Given the description of an element on the screen output the (x, y) to click on. 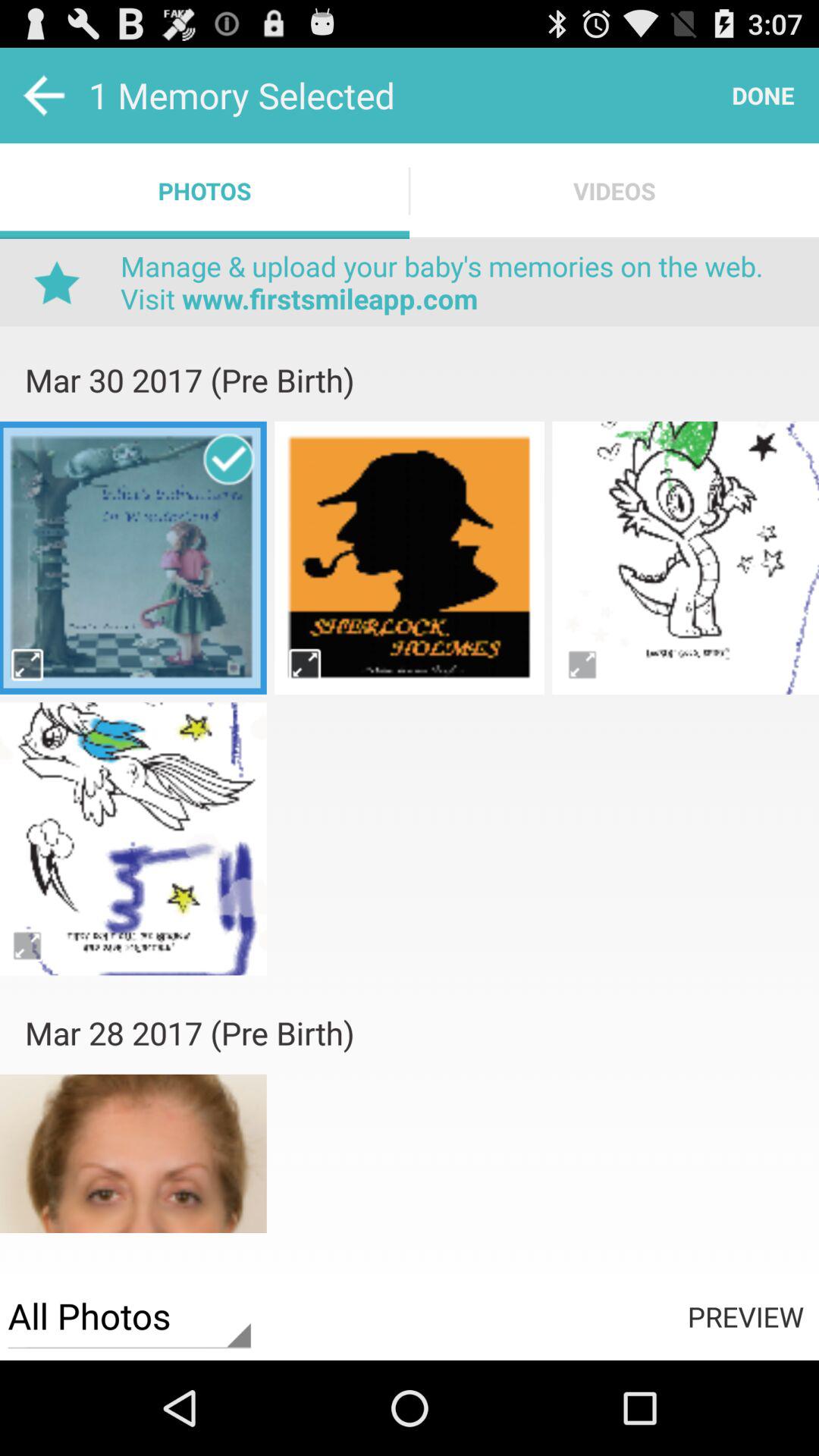
zoom in (28, 945)
